Given the description of an element on the screen output the (x, y) to click on. 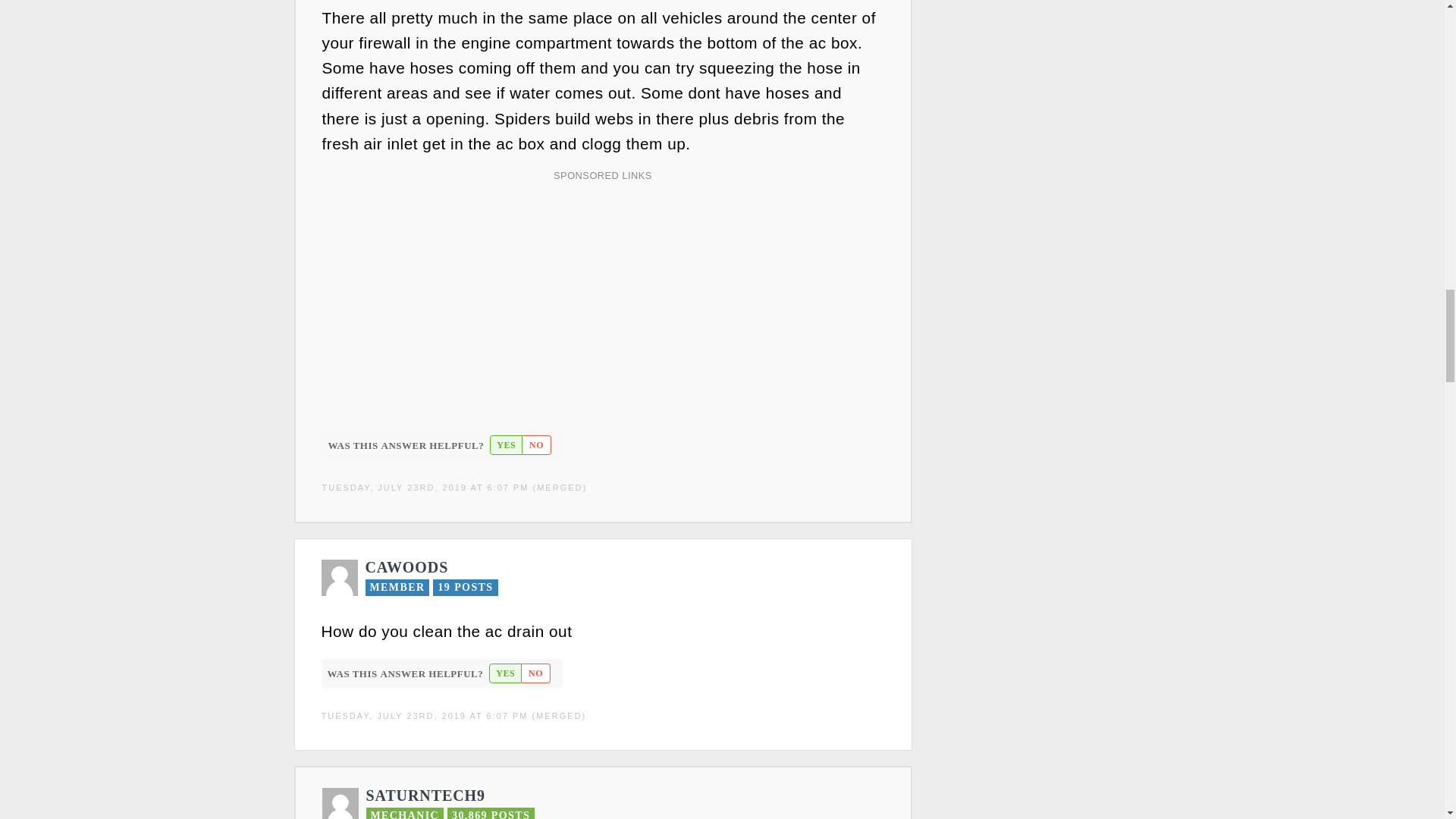
Advertisement (600, 294)
